Given the description of an element on the screen output the (x, y) to click on. 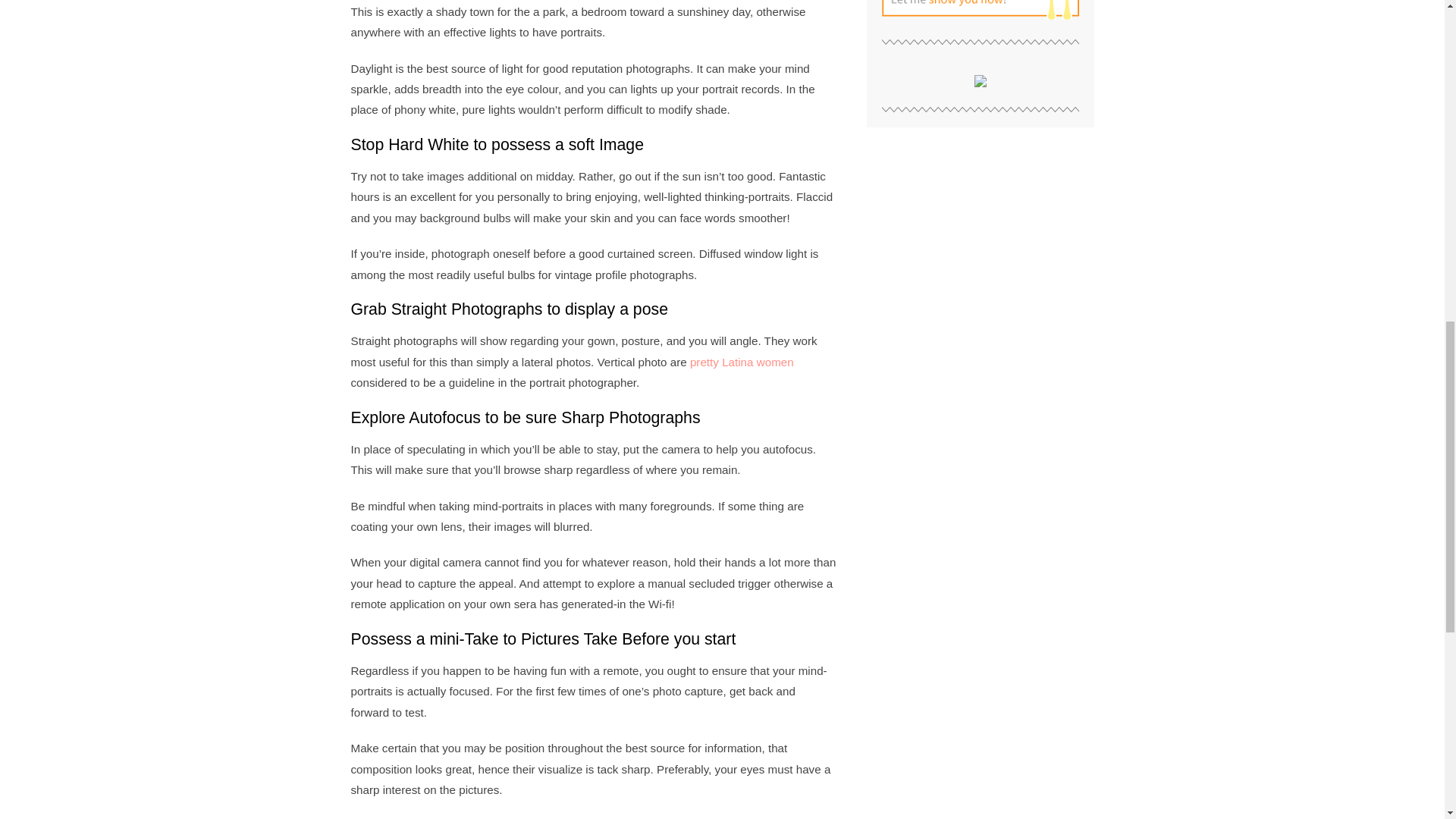
pretty Latina women (741, 361)
